Given the description of an element on the screen output the (x, y) to click on. 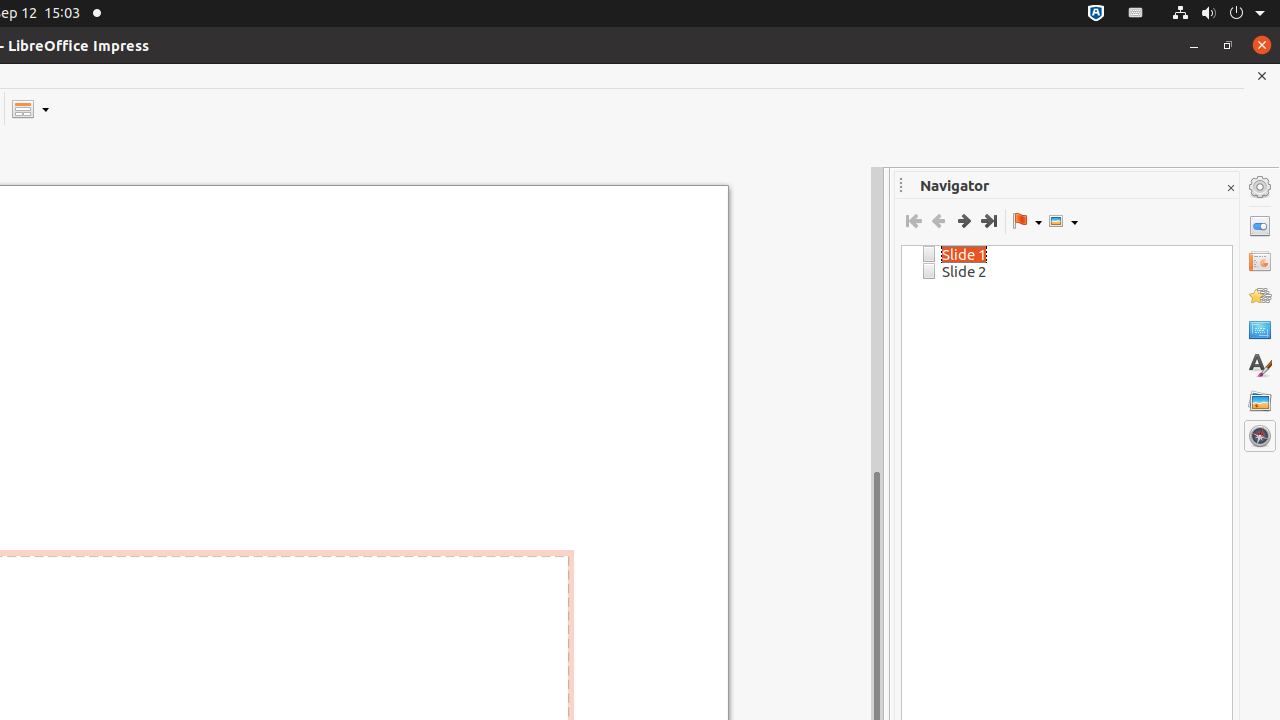
Animation Element type: radio-button (1260, 296)
Close Sidebar Deck Element type: push-button (1230, 188)
Show Shapes Element type: push-button (1063, 221)
Gallery Element type: radio-button (1260, 401)
:1.21/StatusNotifierItem Element type: menu (1136, 13)
